Given the description of an element on the screen output the (x, y) to click on. 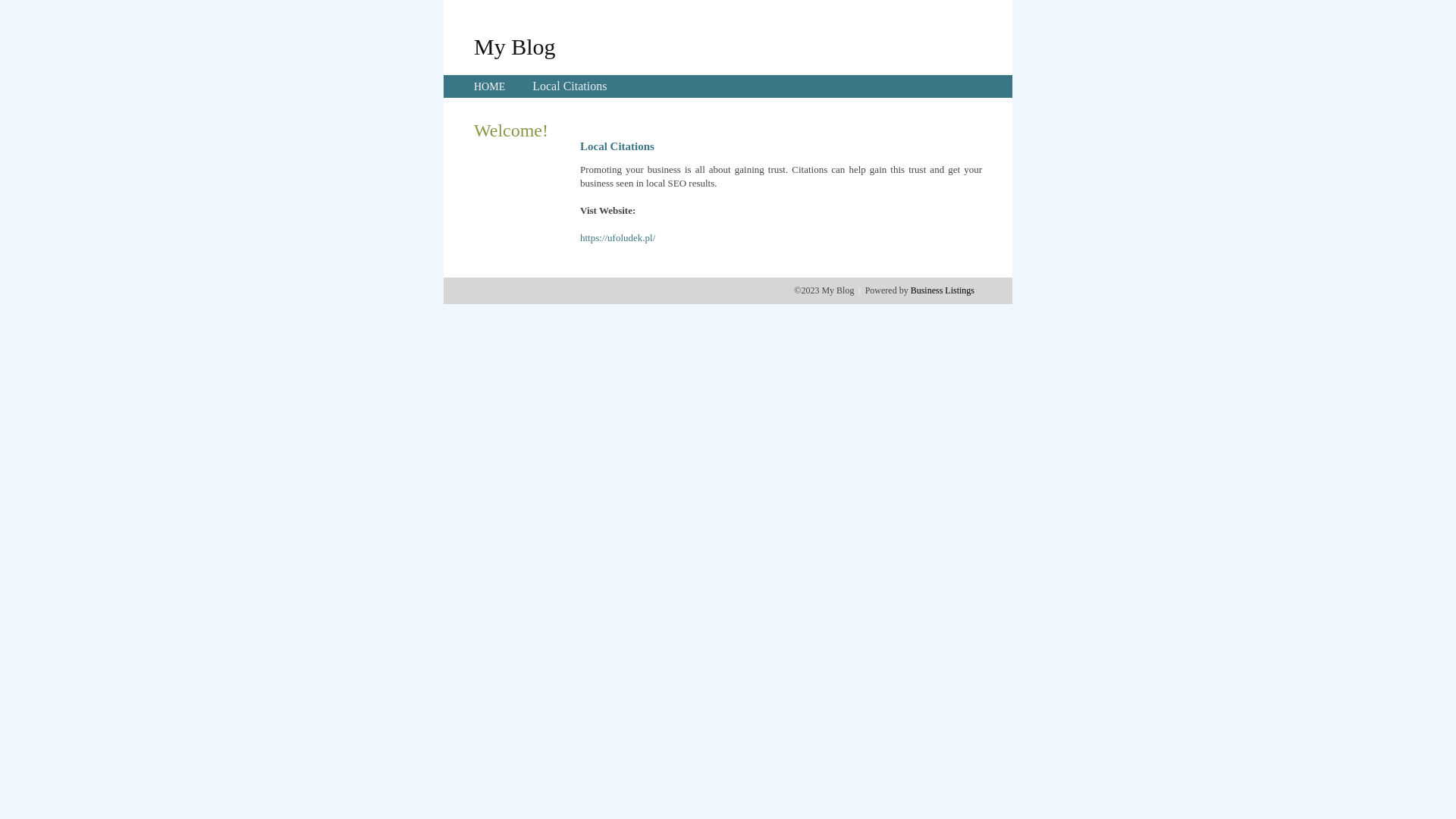
https://ufoludek.pl/ Element type: text (617, 237)
Business Listings Element type: text (942, 290)
HOME Element type: text (489, 86)
Local Citations Element type: text (569, 85)
My Blog Element type: text (514, 46)
